Given the description of an element on the screen output the (x, y) to click on. 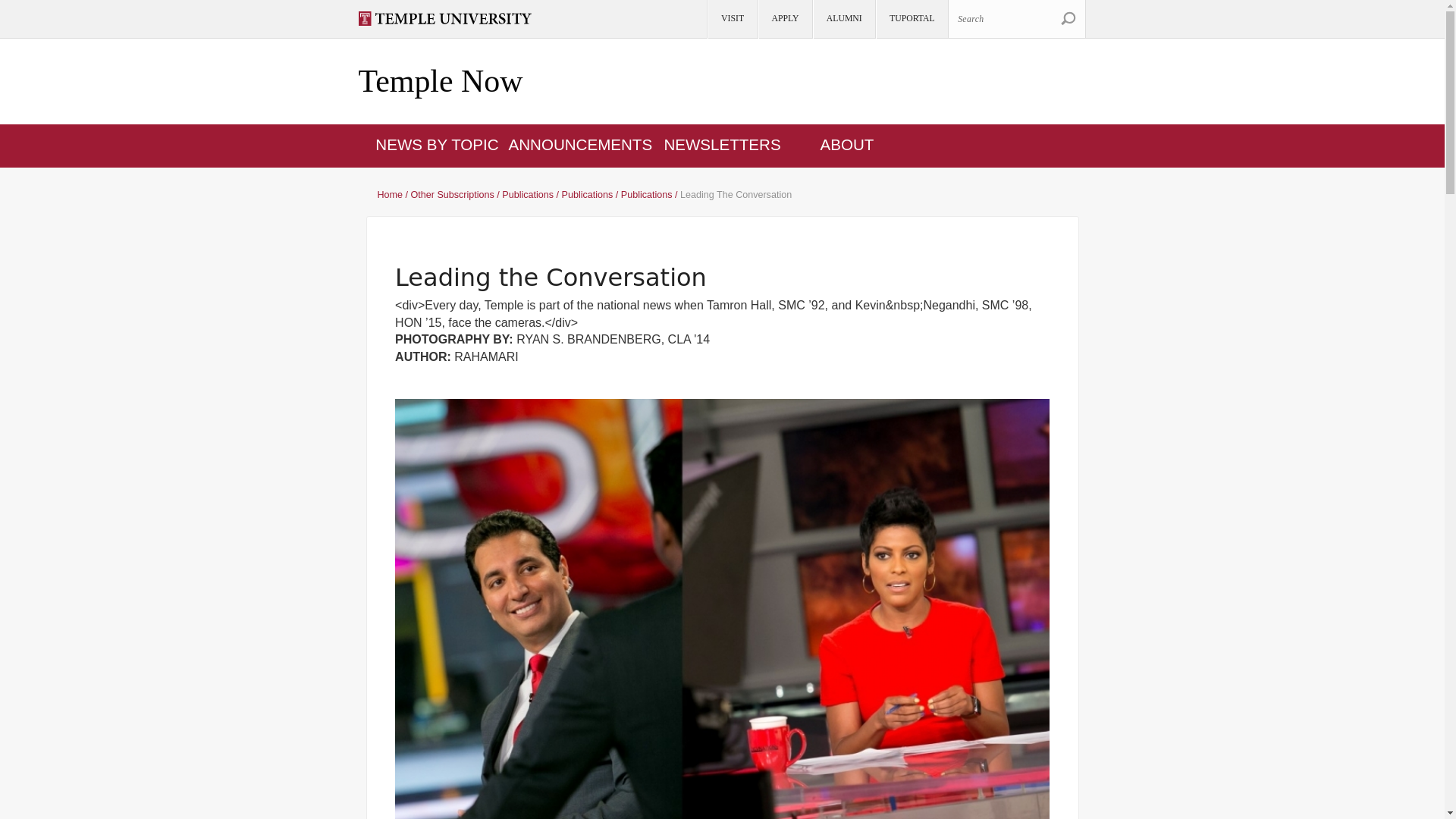
Temple Now (440, 81)
ANNOUNCEMENTS (580, 144)
ALUMNI (843, 19)
NEWSLETTERS (721, 144)
NEWS BY TOPIC (436, 144)
TUPORTAL (911, 19)
Search Site (1067, 18)
VISIT (731, 19)
Search (1016, 18)
Home (440, 81)
